Given the description of an element on the screen output the (x, y) to click on. 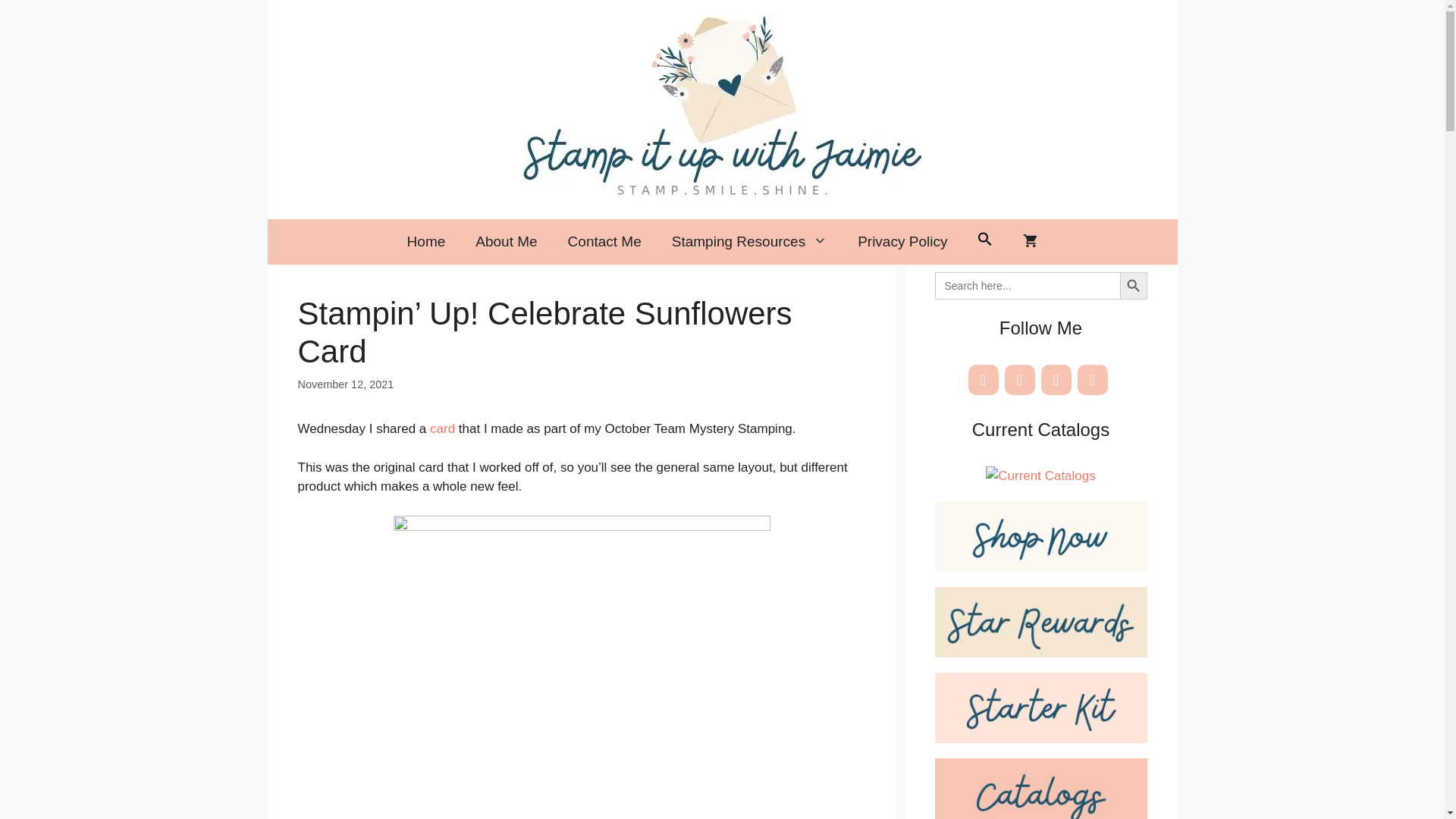
Contact Me (604, 241)
Home (426, 241)
View your shopping cart (1029, 241)
About Me (505, 241)
Stamping Resources (749, 241)
card (440, 428)
Privacy Policy (902, 241)
